Given the description of an element on the screen output the (x, y) to click on. 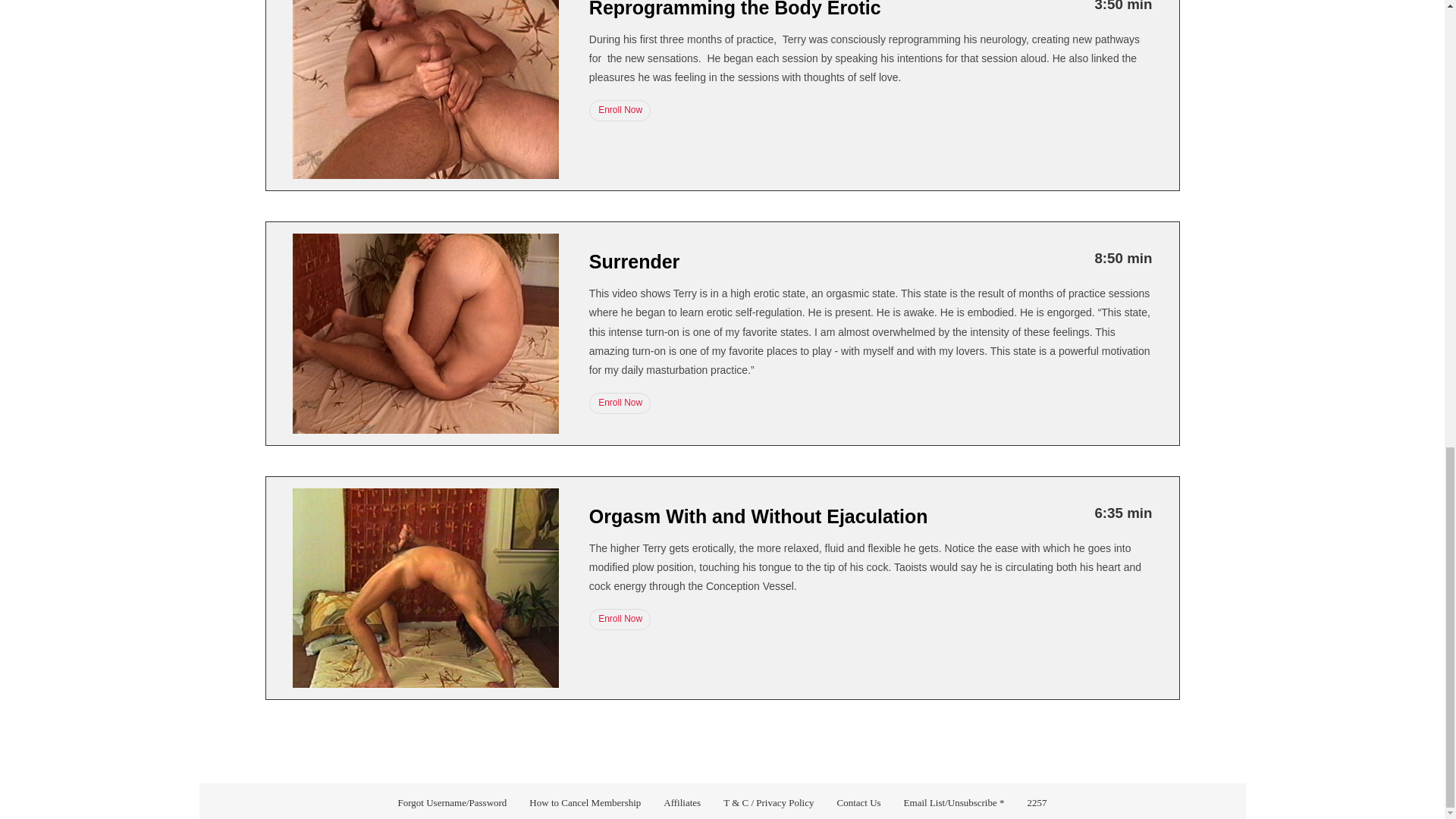
Surrender (634, 260)
Orgasm With and Without Ejaculation (758, 516)
Reprogramming the Body Erotic (734, 9)
